Given the description of an element on the screen output the (x, y) to click on. 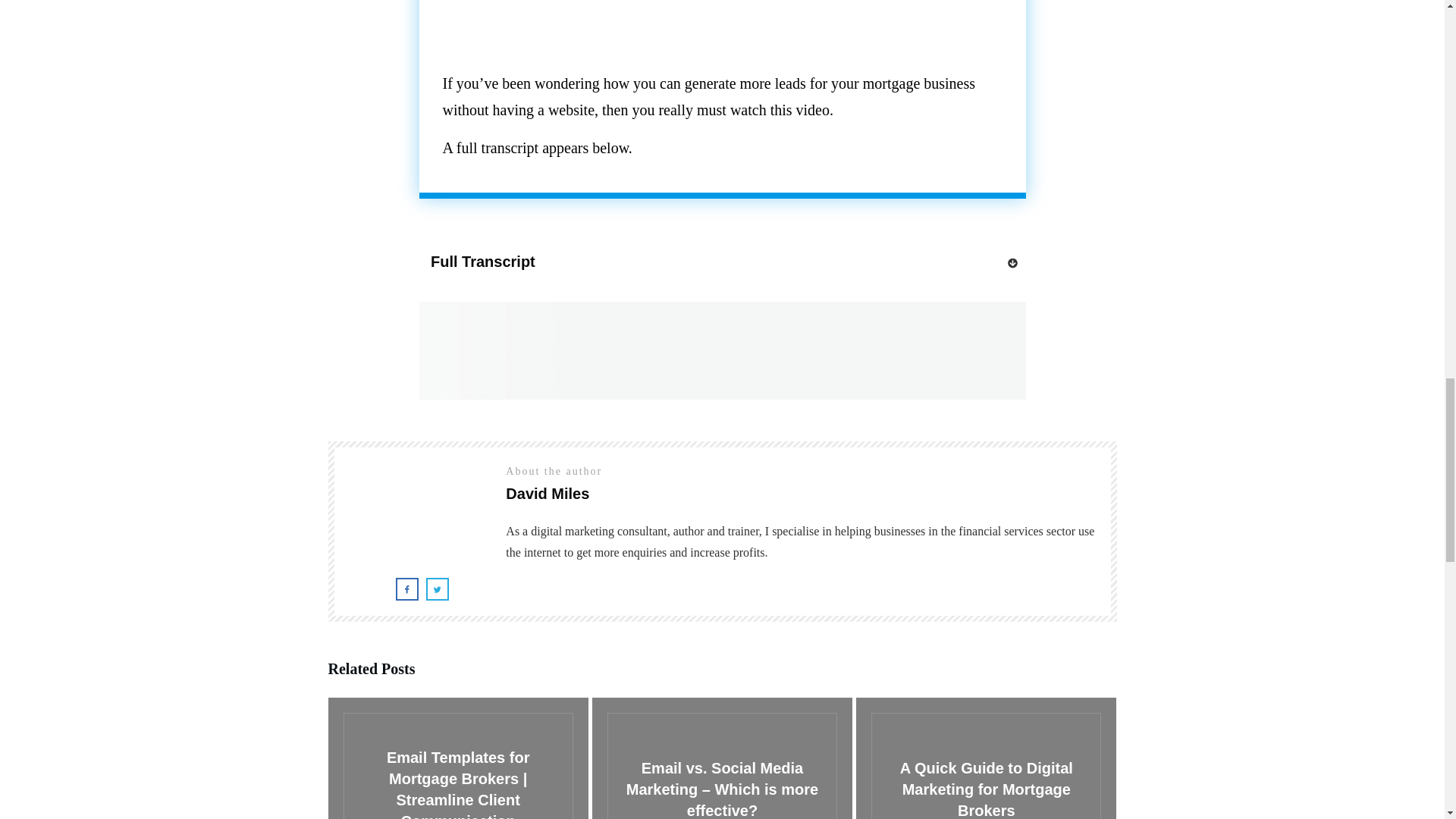
A Quick Guide to Digital Marketing for Mortgage Brokers (986, 789)
A Quick Guide to Digital Marketing for Mortgage Brokers (986, 789)
